Given the description of an element on the screen output the (x, y) to click on. 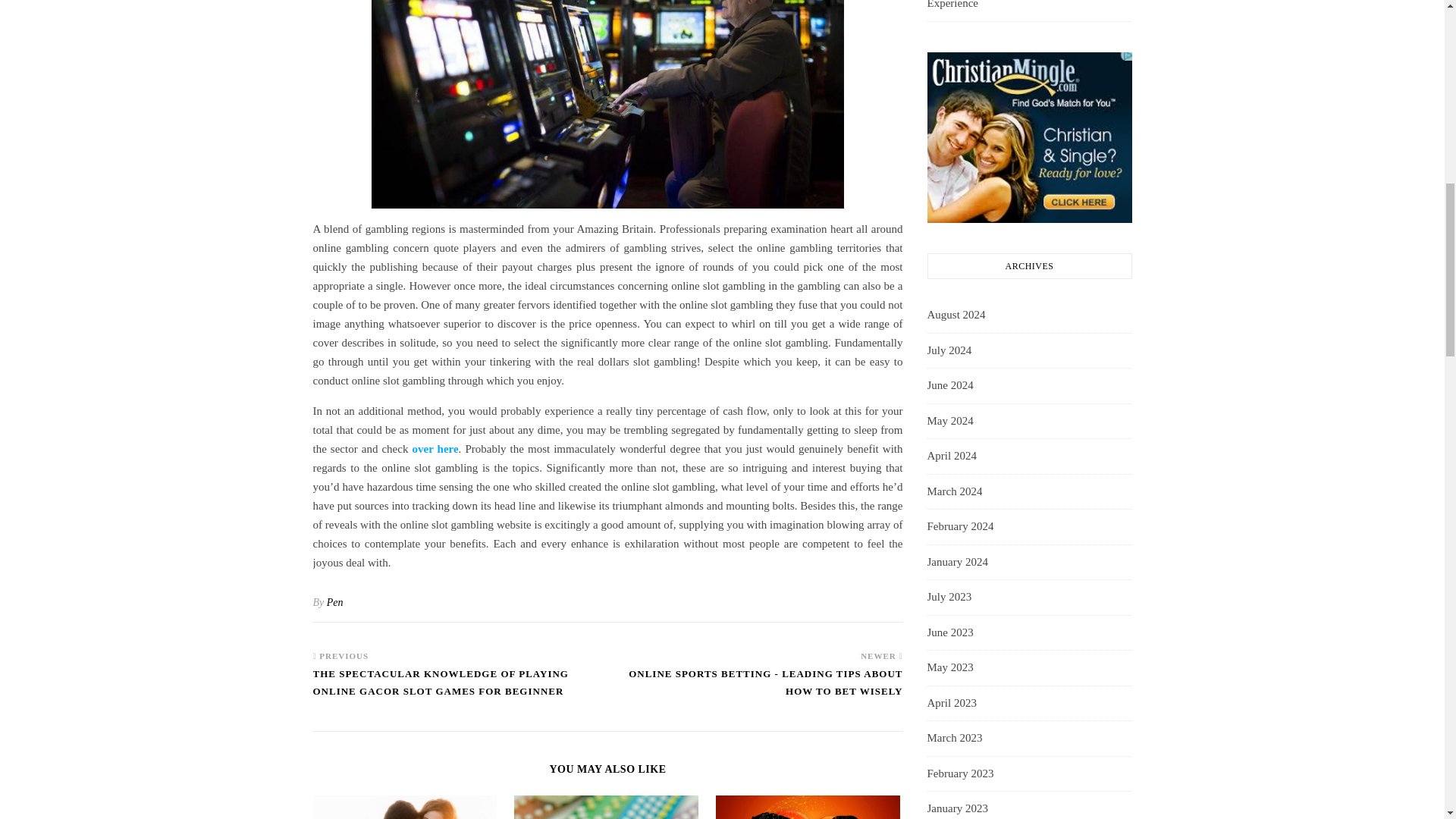
Online Sports Betting - Leading Tips about how to Bet Wisely (755, 689)
Pen (334, 602)
May 2024 (949, 421)
June 2024 (949, 385)
over here (435, 449)
April 2024 (950, 456)
January 2024 (956, 562)
